Given the description of an element on the screen output the (x, y) to click on. 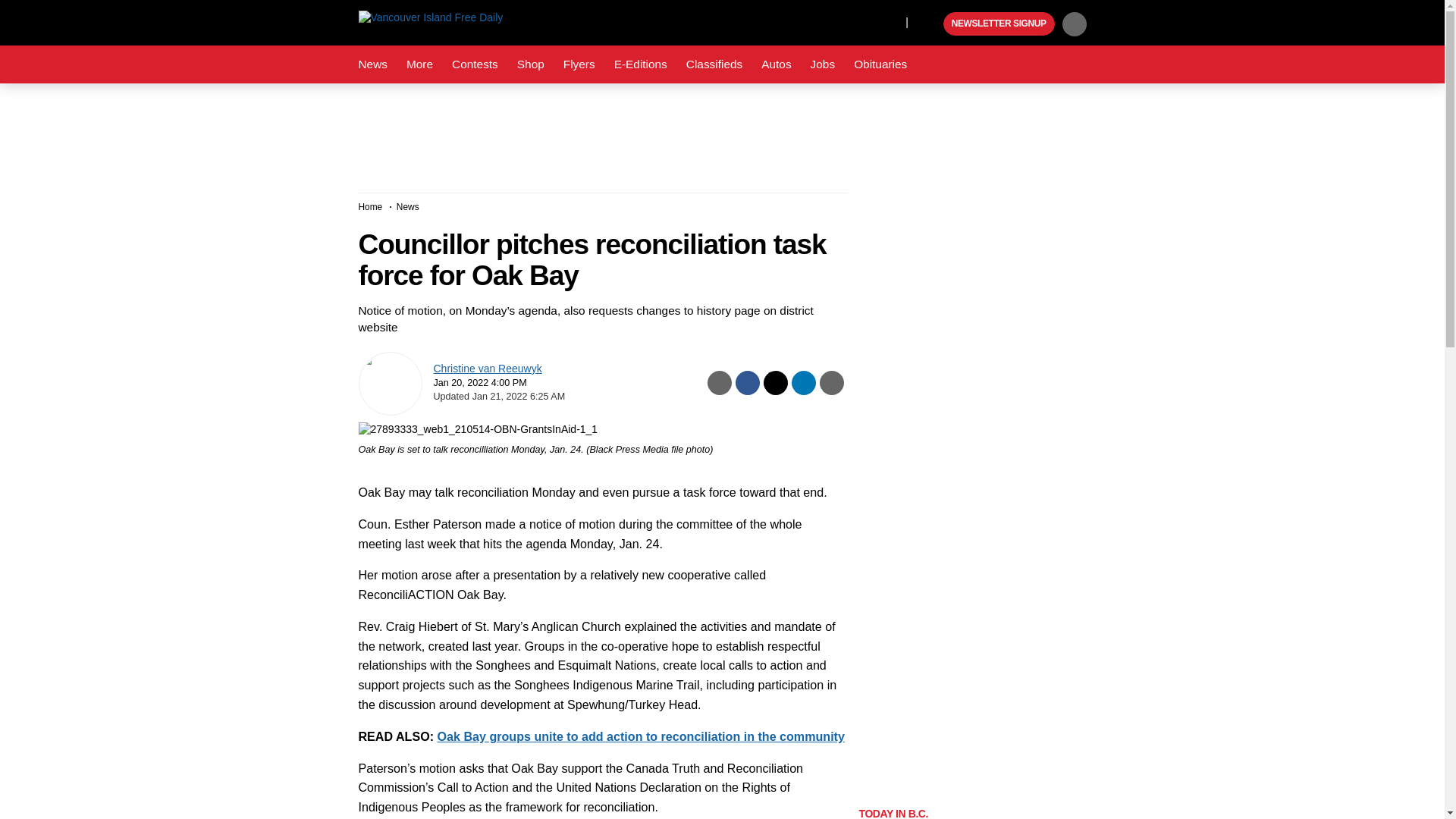
X (853, 21)
News (372, 64)
Facebook (823, 21)
Instagram (889, 21)
Black Press Media (929, 24)
NEWSLETTER SIGNUP (998, 24)
Play (929, 24)
